Given the description of an element on the screen output the (x, y) to click on. 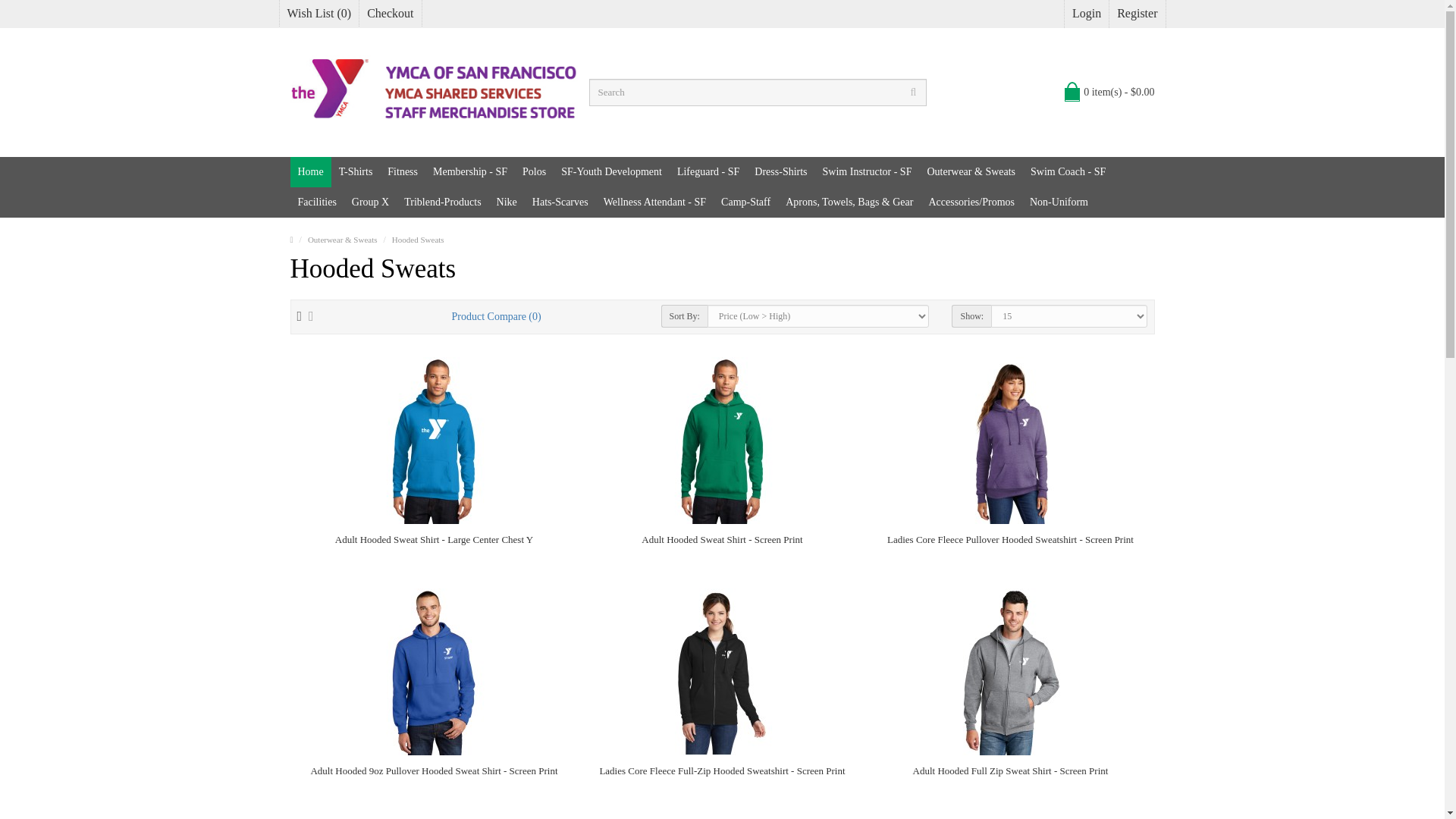
Checkout (389, 13)
Lifeguard - SF (707, 172)
Fitness (402, 172)
Adult Hooded Sweat Shirt - Screen Print (722, 440)
Adult Hooded Full Zip Sweat Shirt - Screen Print (1009, 671)
Polos (534, 172)
T-Shirts (355, 172)
Adult Hooded Sweat Shirt -  Large Center Chest Y (433, 440)
Dress-Shirts (779, 172)
